Given the description of an element on the screen output the (x, y) to click on. 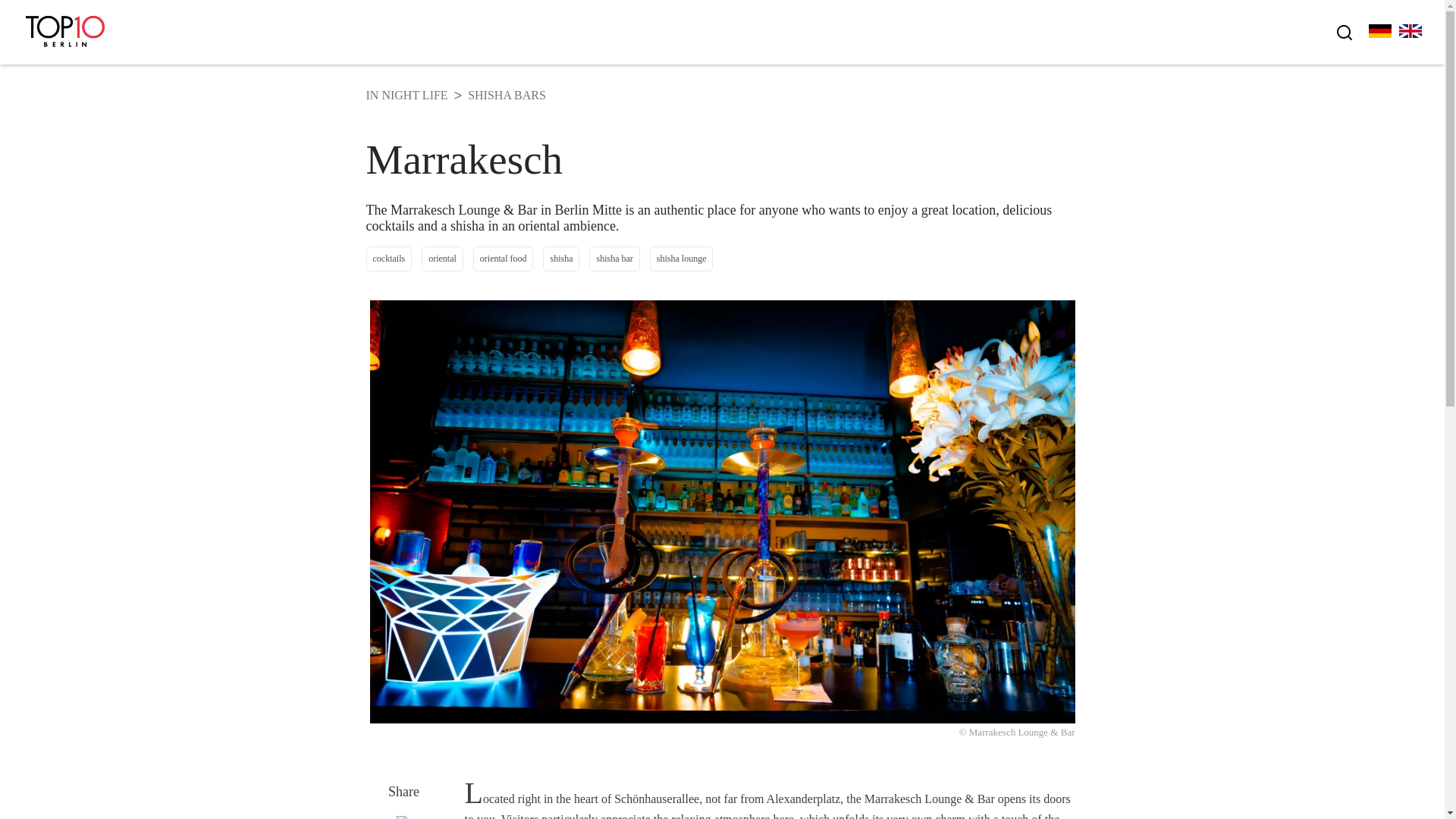
cocktails (388, 258)
shisha bar (614, 258)
IN NIGHT LIFE (405, 94)
shisha bar (614, 258)
shisha lounge (681, 258)
cocktails (388, 258)
oriental food (503, 258)
oriental (442, 258)
oriental food (503, 258)
SHISHA BARS (506, 94)
shisha (561, 258)
oriental (442, 258)
shisha lounge (681, 258)
shisha (561, 258)
